Given the description of an element on the screen output the (x, y) to click on. 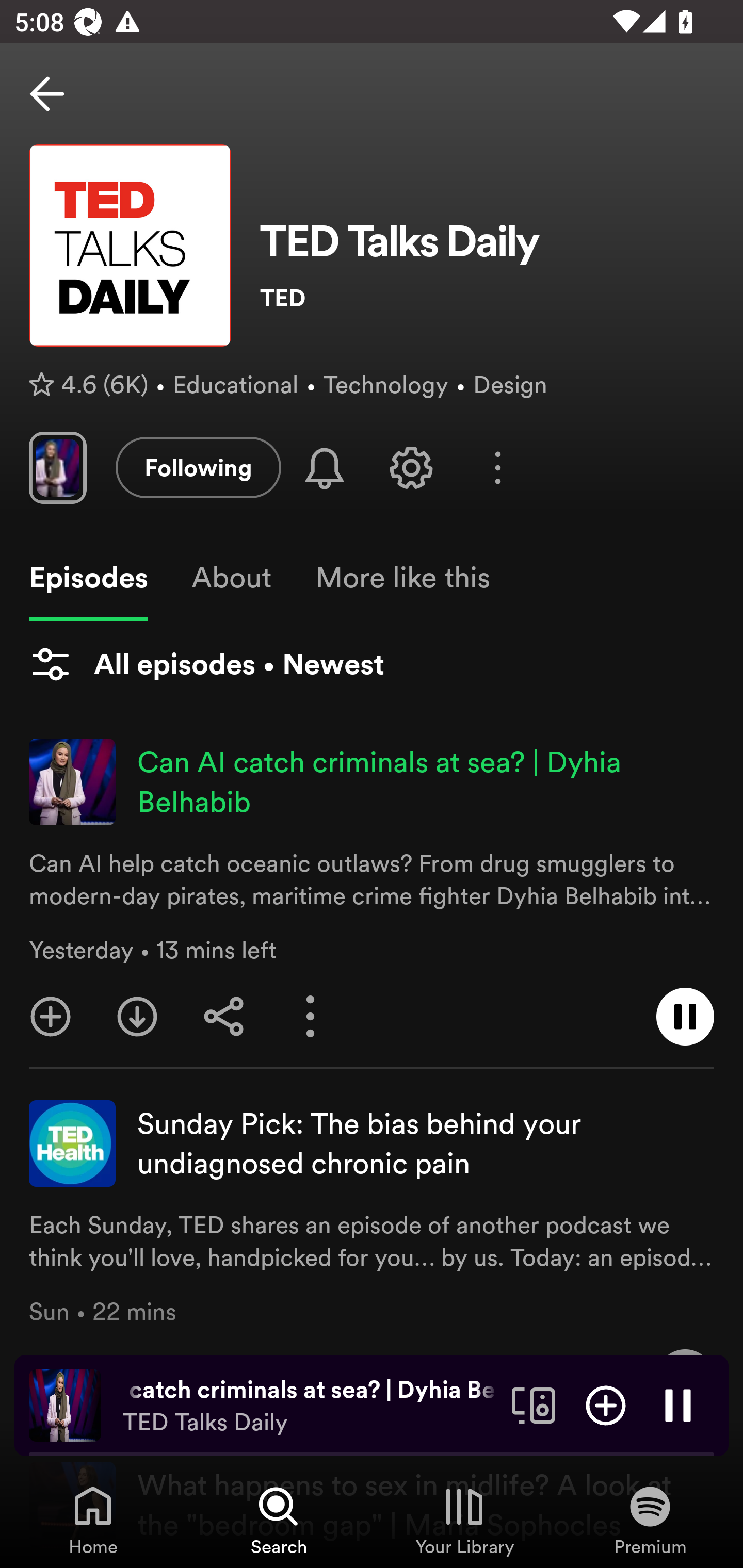
Back (46, 93)
TED (487, 297)
Following Unfollow this show (197, 466)
Settings for this Show. (410, 467)
More options for show TED Talks Daily (497, 467)
About (231, 577)
More like this (402, 577)
All episodes • Newest (206, 663)
Share (223, 1016)
The cover art of the currently playing track (64, 1404)
Connect to a device. Opens the devices menu (533, 1404)
Add item (605, 1404)
Pause (677, 1404)
Home, Tab 1 of 4 Home Home (92, 1519)
Search, Tab 2 of 4 Search Search (278, 1519)
Your Library, Tab 3 of 4 Your Library Your Library (464, 1519)
Premium, Tab 4 of 4 Premium Premium (650, 1519)
